Given the description of an element on the screen output the (x, y) to click on. 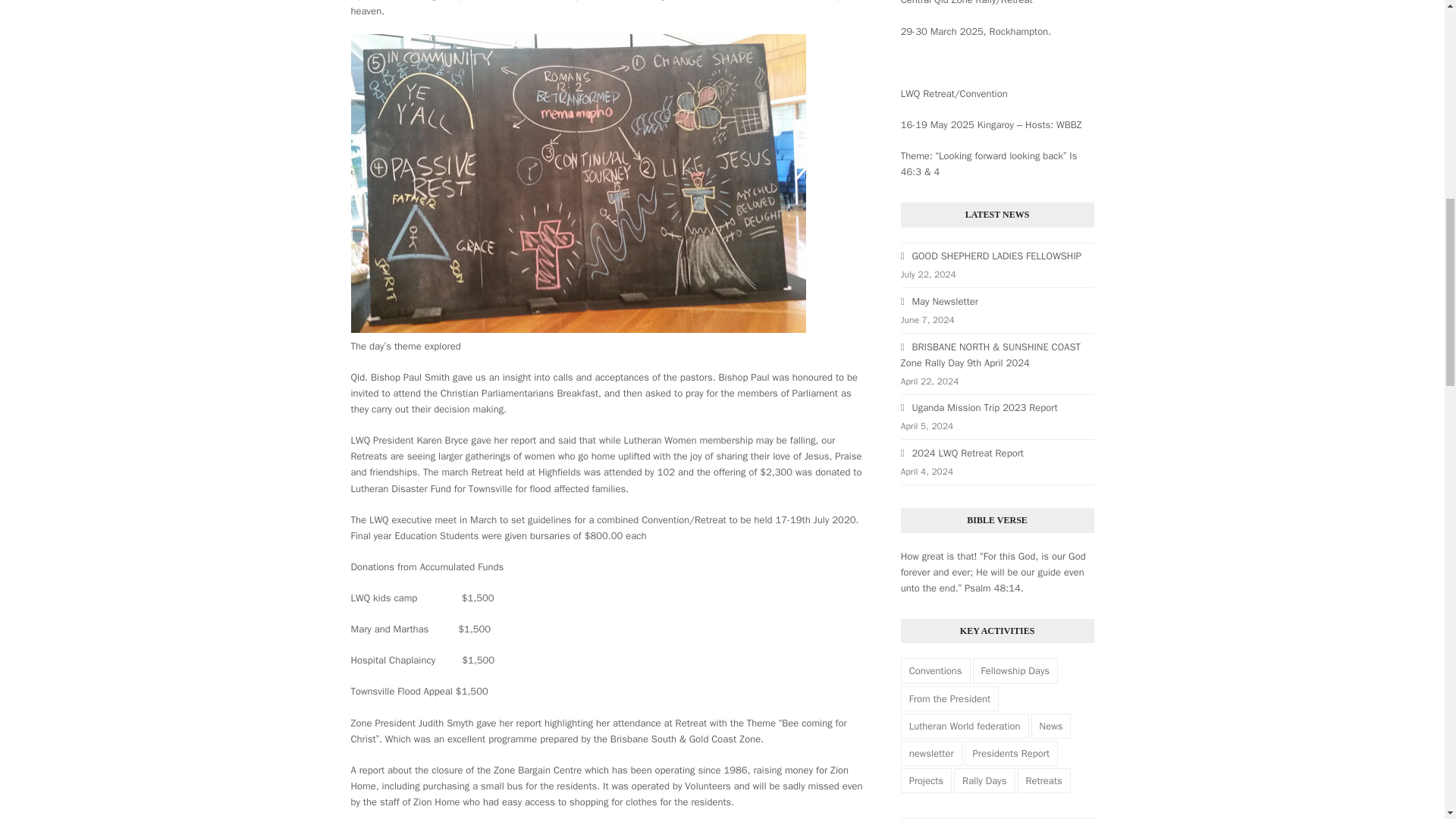
Presidents Report (1010, 753)
May Newsletter (939, 300)
2024 LWQ Retreat Report (962, 452)
News (1050, 725)
newsletter (931, 753)
Uganda Mission Trip 2023 Report (979, 407)
Fellowship Days (1015, 670)
Lutheran World federation (965, 725)
Projects (926, 780)
Conventions (936, 670)
From the President (949, 697)
GOOD SHEPHERD LADIES FELLOWSHIP (991, 255)
